Given the description of an element on the screen output the (x, y) to click on. 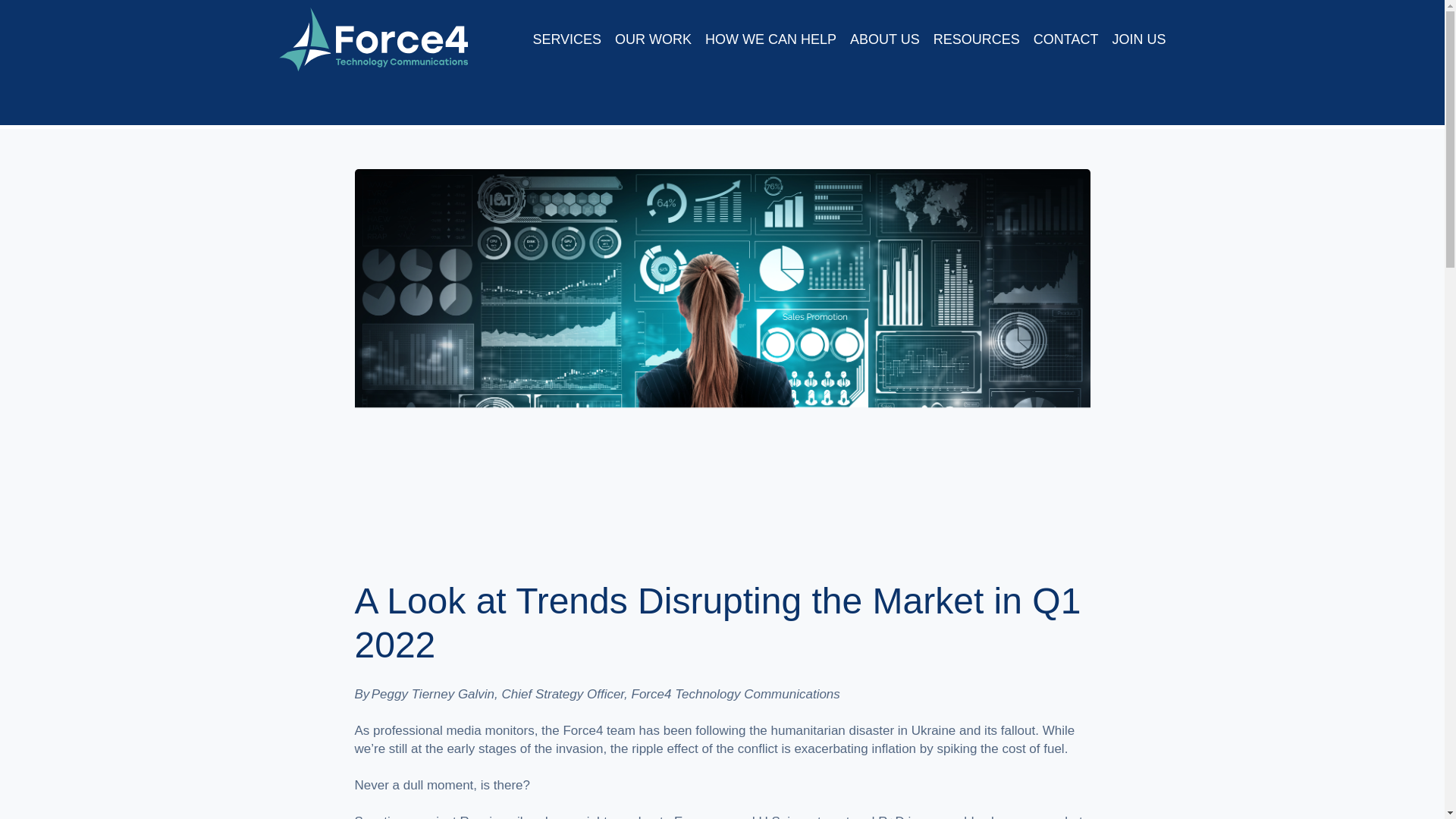
SERVICES (566, 39)
CONTACT (1066, 39)
OUR WORK (652, 39)
HOW WE CAN HELP (769, 39)
JOIN US (1139, 39)
ABOUT US (885, 39)
RESOURCES (976, 39)
